Given the description of an element on the screen output the (x, y) to click on. 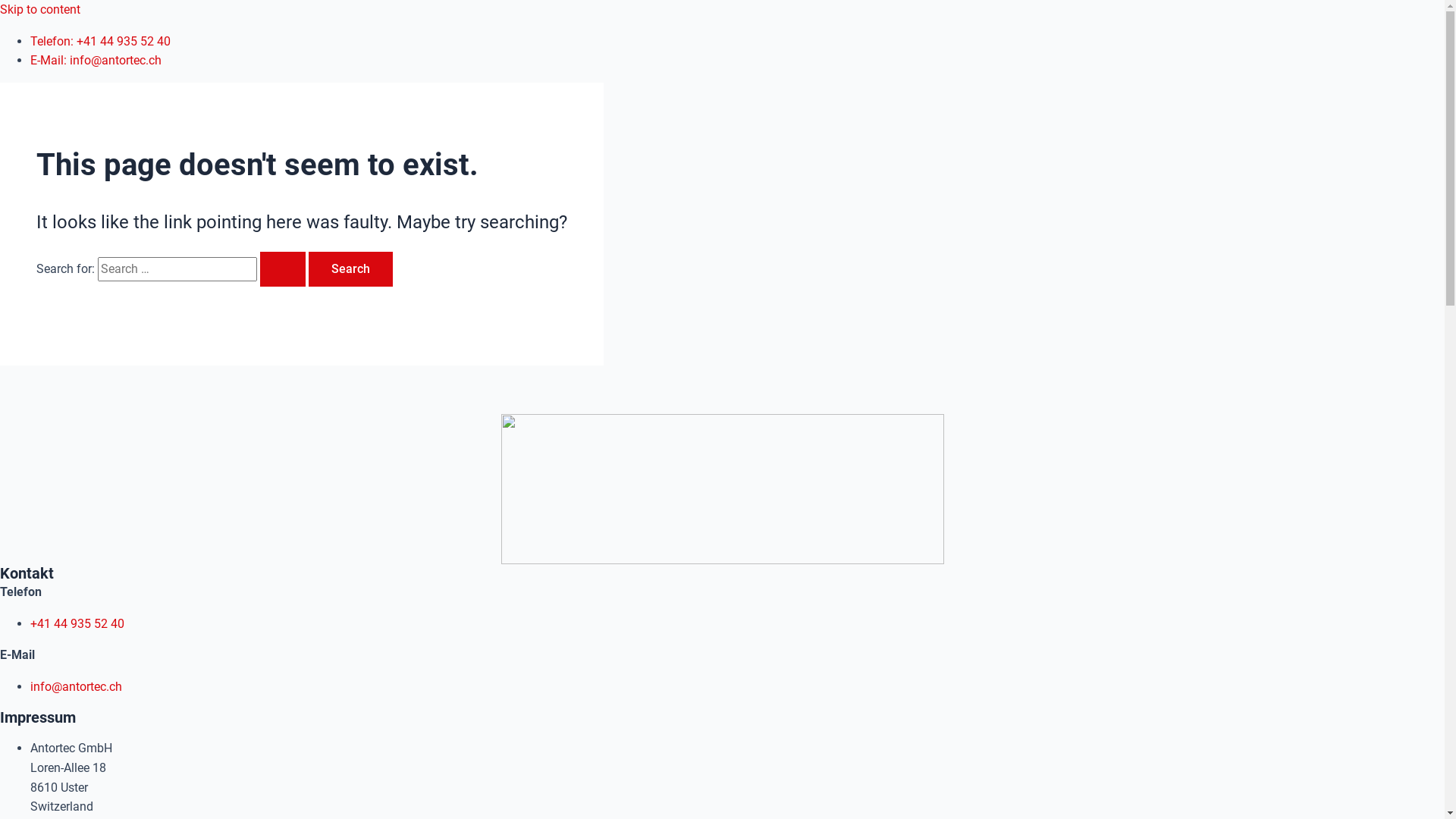
E-Mail: info@antortec.ch Element type: text (95, 60)
Skip to content Element type: text (40, 9)
Telefon: +41 44 935 52 40 Element type: text (100, 41)
info@antortec.ch Element type: text (76, 686)
+41 44 935 52 40 Element type: text (77, 623)
Search Element type: text (350, 268)
